Given the description of an element on the screen output the (x, y) to click on. 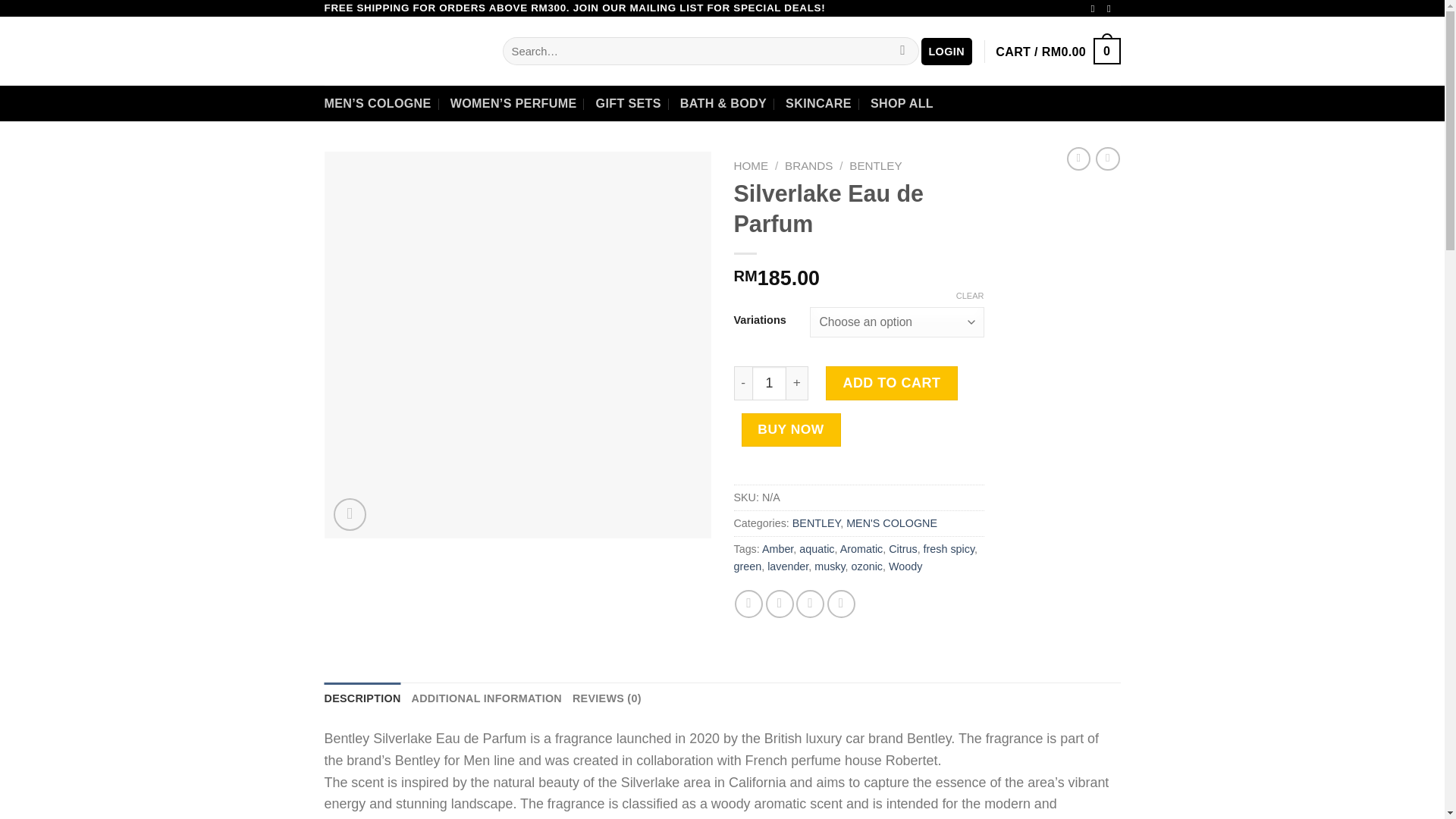
CLEAR (970, 295)
Amber (777, 548)
Citrus (902, 548)
BENTLEY (874, 164)
Cart (1057, 51)
fresh spicy (948, 548)
Aromatic (861, 548)
BUY NOW (791, 429)
ozonic (866, 566)
lavender (787, 566)
BRANDS (808, 164)
MEN'S COLOGNE (891, 522)
BENTLEY (816, 522)
HOME (750, 164)
